Given the description of an element on the screen output the (x, y) to click on. 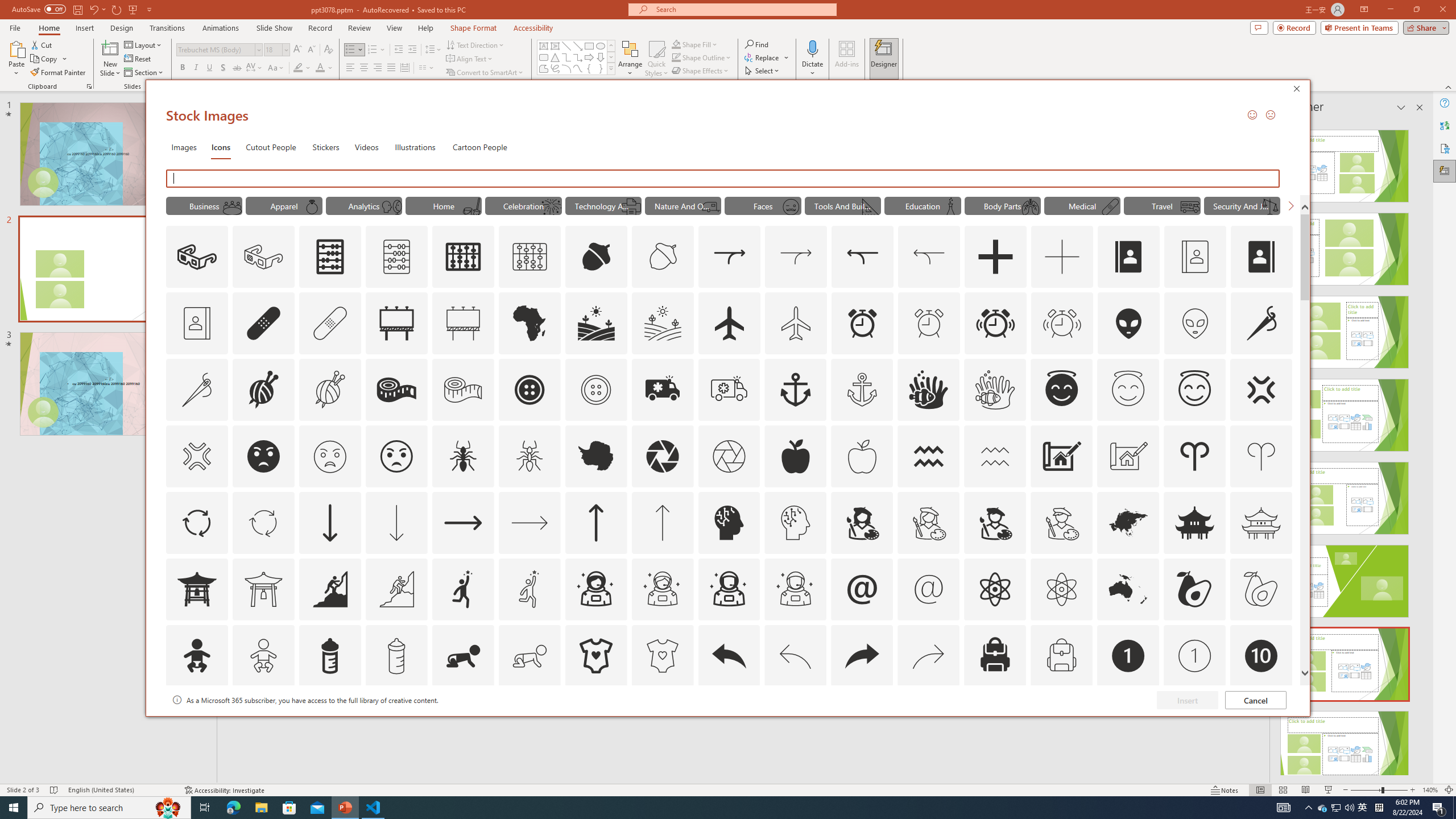
AutomationID: Icons_AlterationsTailoring_M (196, 389)
AutomationID: Icons_AddressBook_RTL (1261, 256)
AutomationID: Icons_WeightsUneven1_M (1269, 206)
"Security And Justice" Icons. (1241, 205)
AutomationID: Icons_Aries_M (1260, 455)
